Given the description of an element on the screen output the (x, y) to click on. 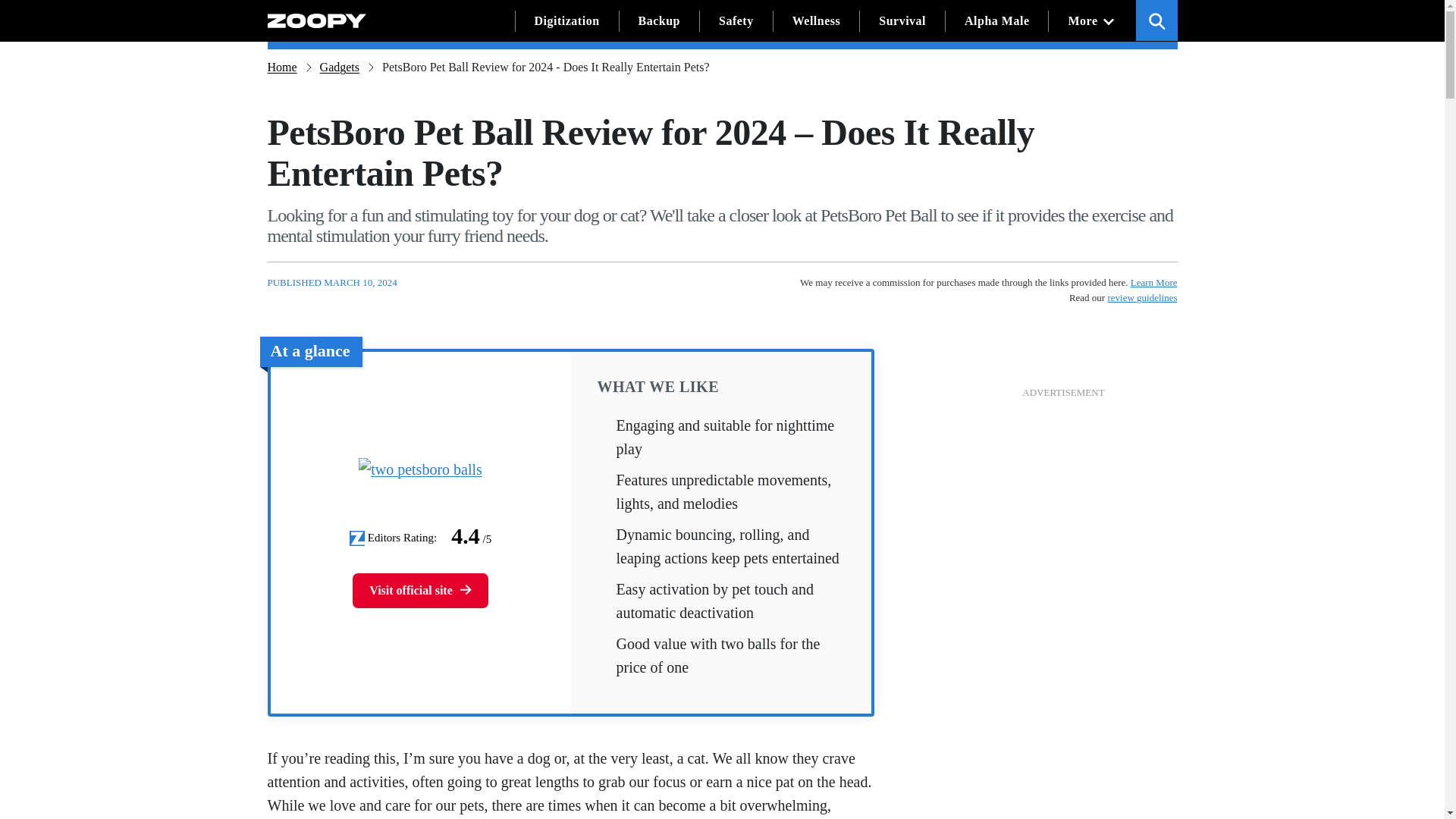
Learn More (1154, 283)
Alpha Male (996, 20)
Visit official site (419, 590)
Gadgets (339, 66)
Backup (658, 20)
Survival (901, 20)
Home (281, 66)
Wellness (816, 20)
Safety (735, 20)
review guidelines (1141, 297)
